Given the description of an element on the screen output the (x, y) to click on. 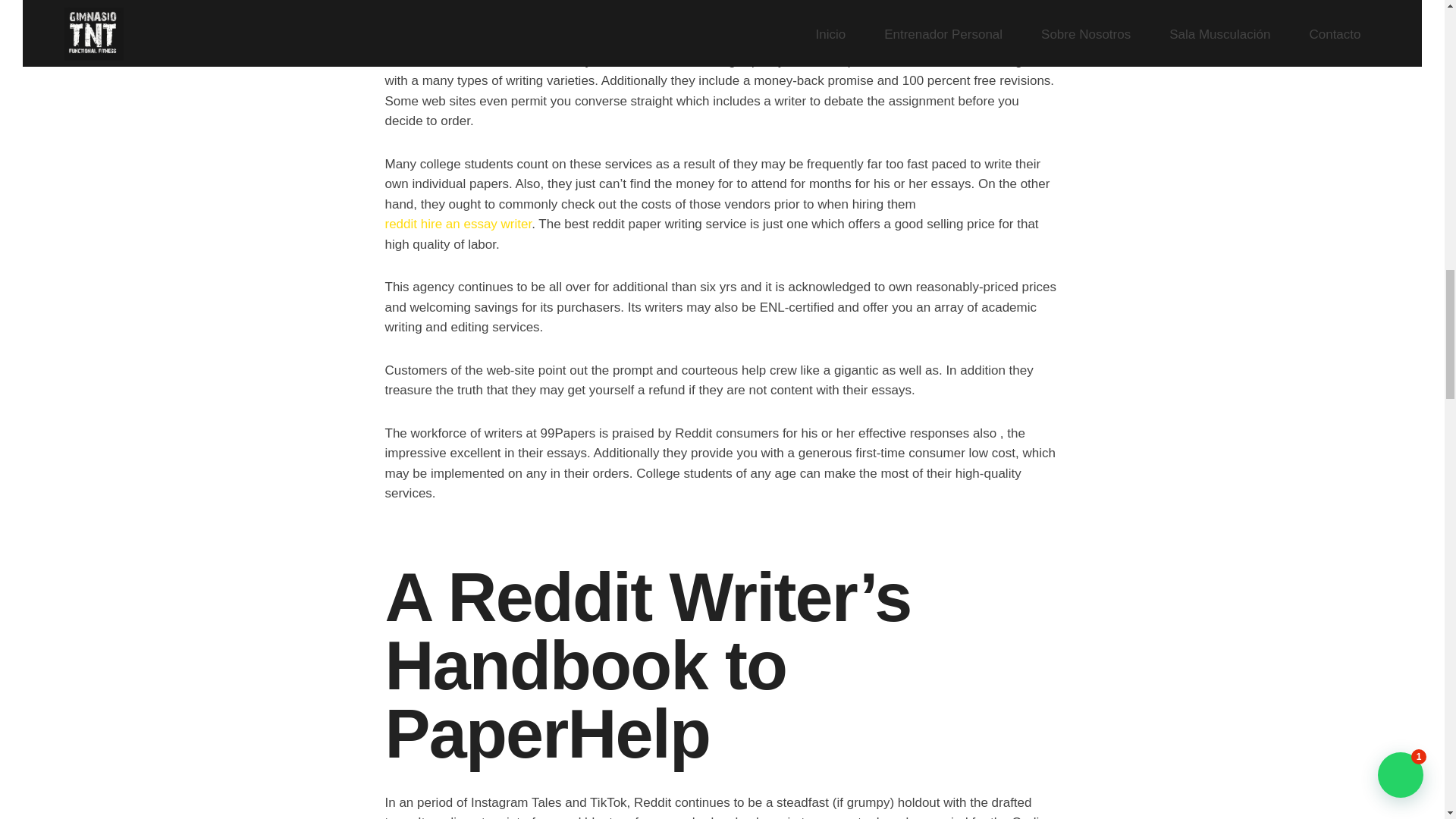
reddit hire an essay writer (458, 223)
